Given the description of an element on the screen output the (x, y) to click on. 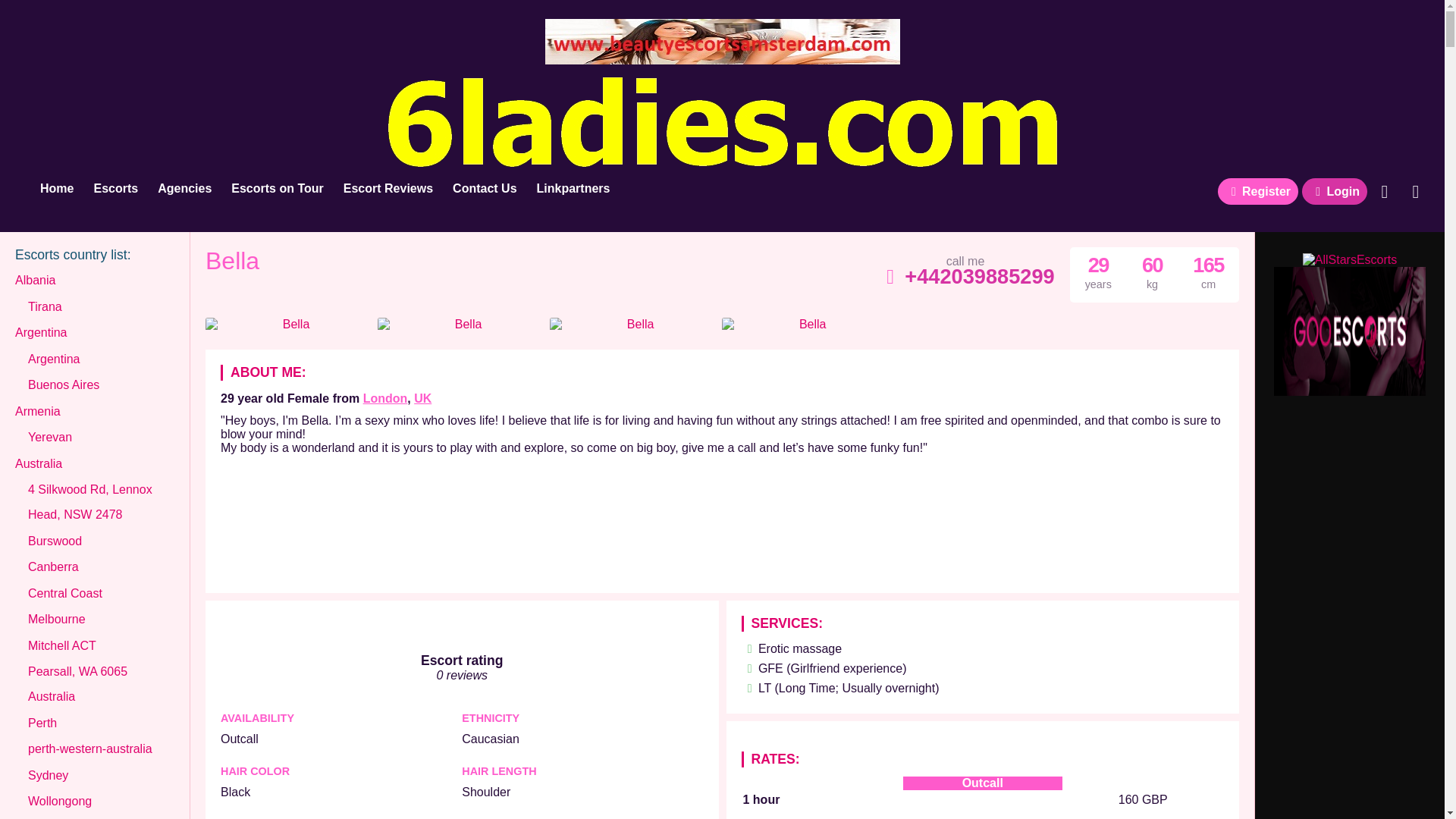
6ladies.com The Most Beautiful Escorts in Your City! (721, 166)
Escorts (115, 188)
4 Silkwood Rd, Lennox Head, NSW 2478 (100, 501)
London (384, 398)
Argentina (53, 359)
Bella (232, 264)
Australia (38, 463)
Dubai escorts (1349, 391)
Tirana (44, 307)
Escorts on Tour (277, 188)
Argentina (40, 332)
AllStarsEscorts (1349, 259)
Contact Us (1415, 191)
Burswood (54, 541)
6Ladies.com (56, 188)
